Given the description of an element on the screen output the (x, y) to click on. 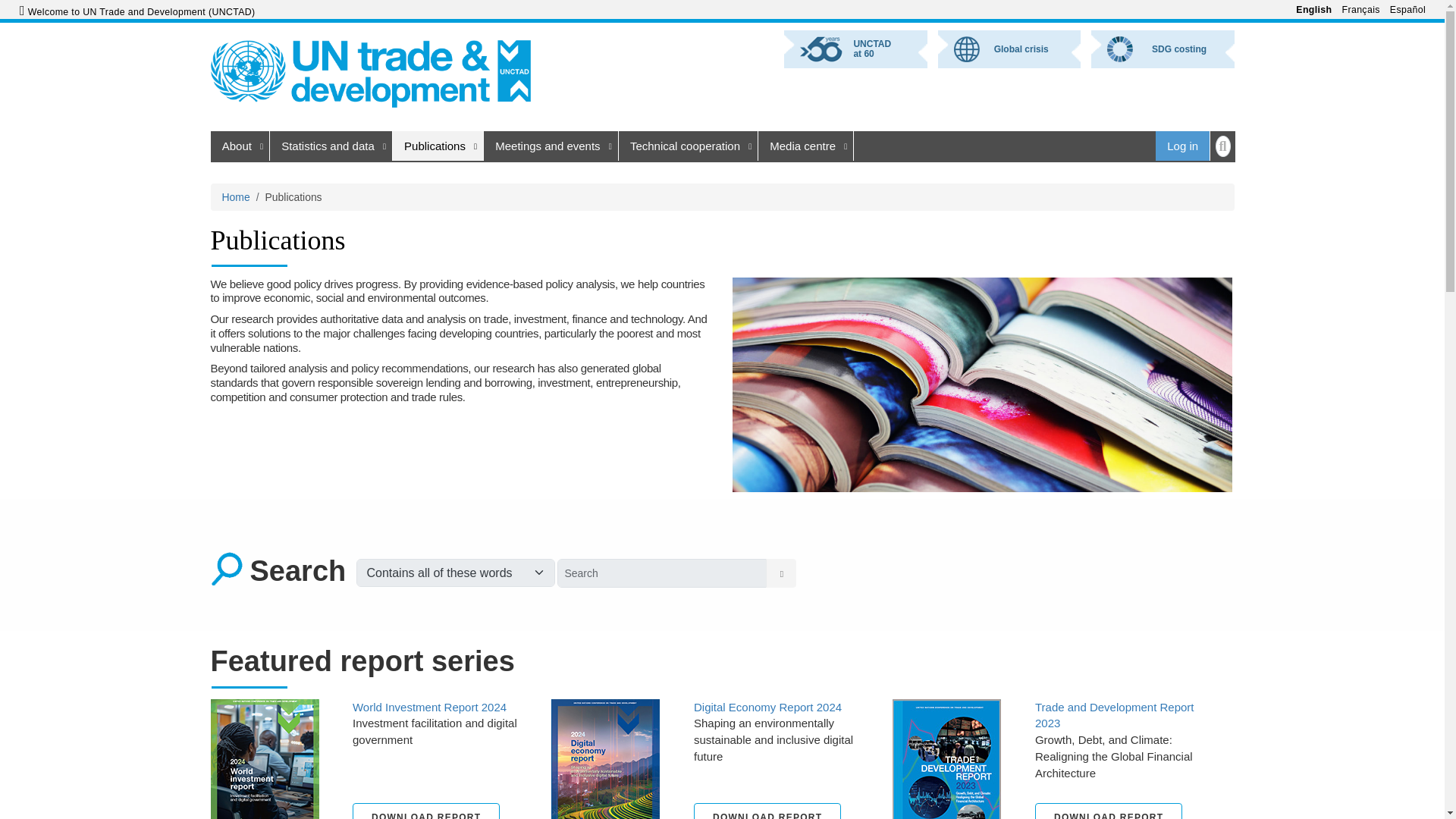
Home (371, 73)
Search (780, 573)
Statistics and data (331, 145)
SDG costing (1161, 48)
World Investment Report 2024 (264, 773)
English (1317, 9)
About (240, 145)
Trade and Development Report 2023 (946, 773)
Digital Economy Report 2024 (605, 773)
UNCTAD at 60 (855, 48)
